Given the description of an element on the screen output the (x, y) to click on. 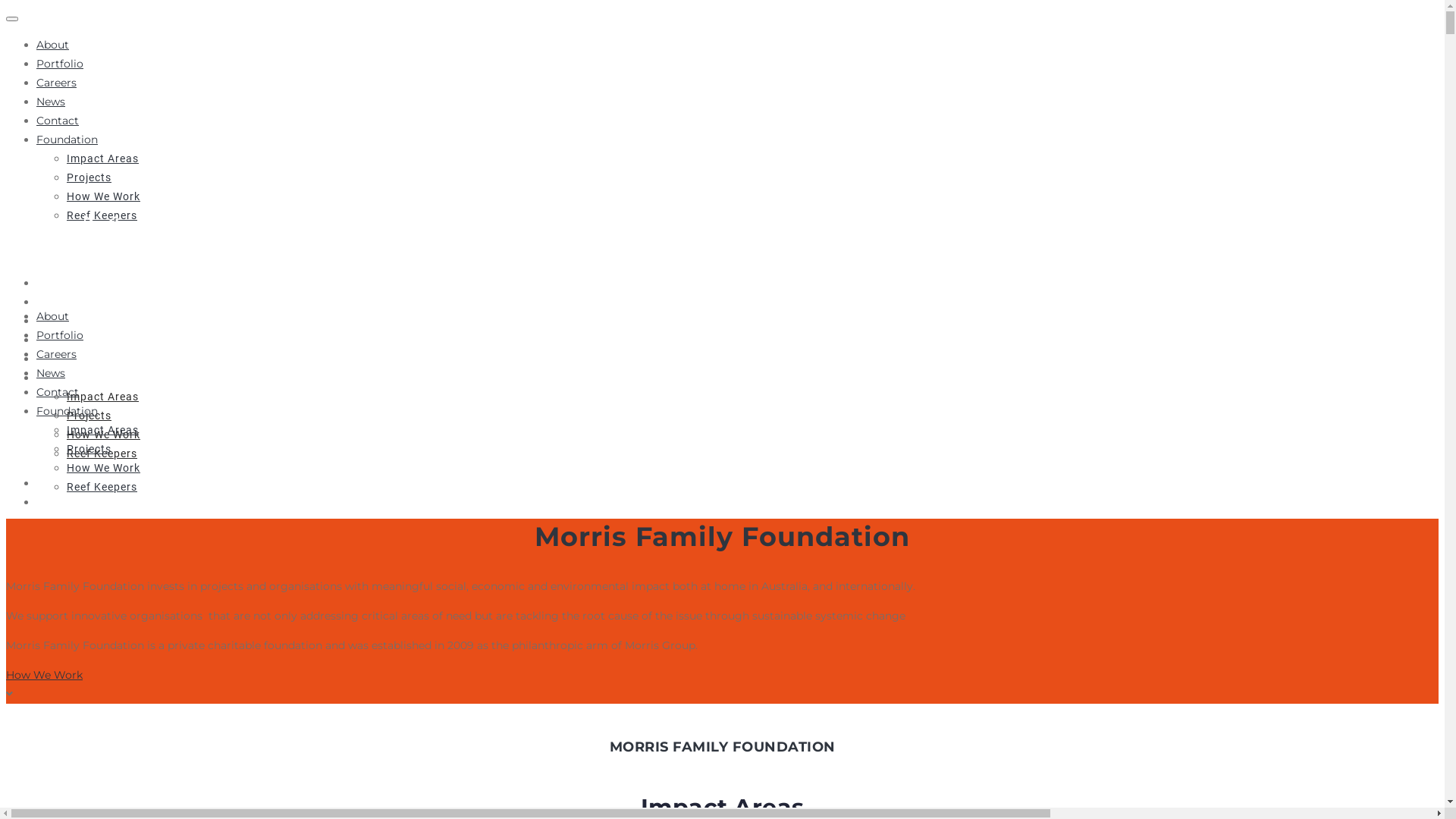
Reef Keepers Element type: text (101, 486)
About Element type: text (52, 44)
Impact Areas Element type: text (102, 429)
How We Work Element type: text (44, 674)
Foundation Element type: text (66, 410)
About Element type: text (52, 316)
Foundation Element type: text (66, 139)
Portfolio Element type: text (59, 63)
Careers Element type: text (58, 320)
News Element type: text (52, 338)
Projects Element type: text (88, 177)
Contact Element type: text (60, 358)
About Element type: text (54, 282)
News Element type: text (50, 372)
Impact Areas Element type: text (102, 395)
Portfolio Element type: text (59, 335)
How We Work Element type: text (103, 433)
Careers Element type: text (56, 353)
Impact Areas Element type: text (102, 158)
Projects Element type: text (88, 448)
Contact Element type: text (57, 391)
Portfolio Element type: text (63, 300)
How We Work Element type: text (103, 467)
Projects Element type: text (88, 415)
Contact Element type: text (57, 120)
Reef Keepers Element type: text (101, 453)
How We Work Element type: text (103, 196)
News Element type: text (50, 101)
Careers Element type: text (56, 82)
Foundation Element type: text (70, 376)
Reef Keepers Element type: text (101, 215)
